Given the description of an element on the screen output the (x, y) to click on. 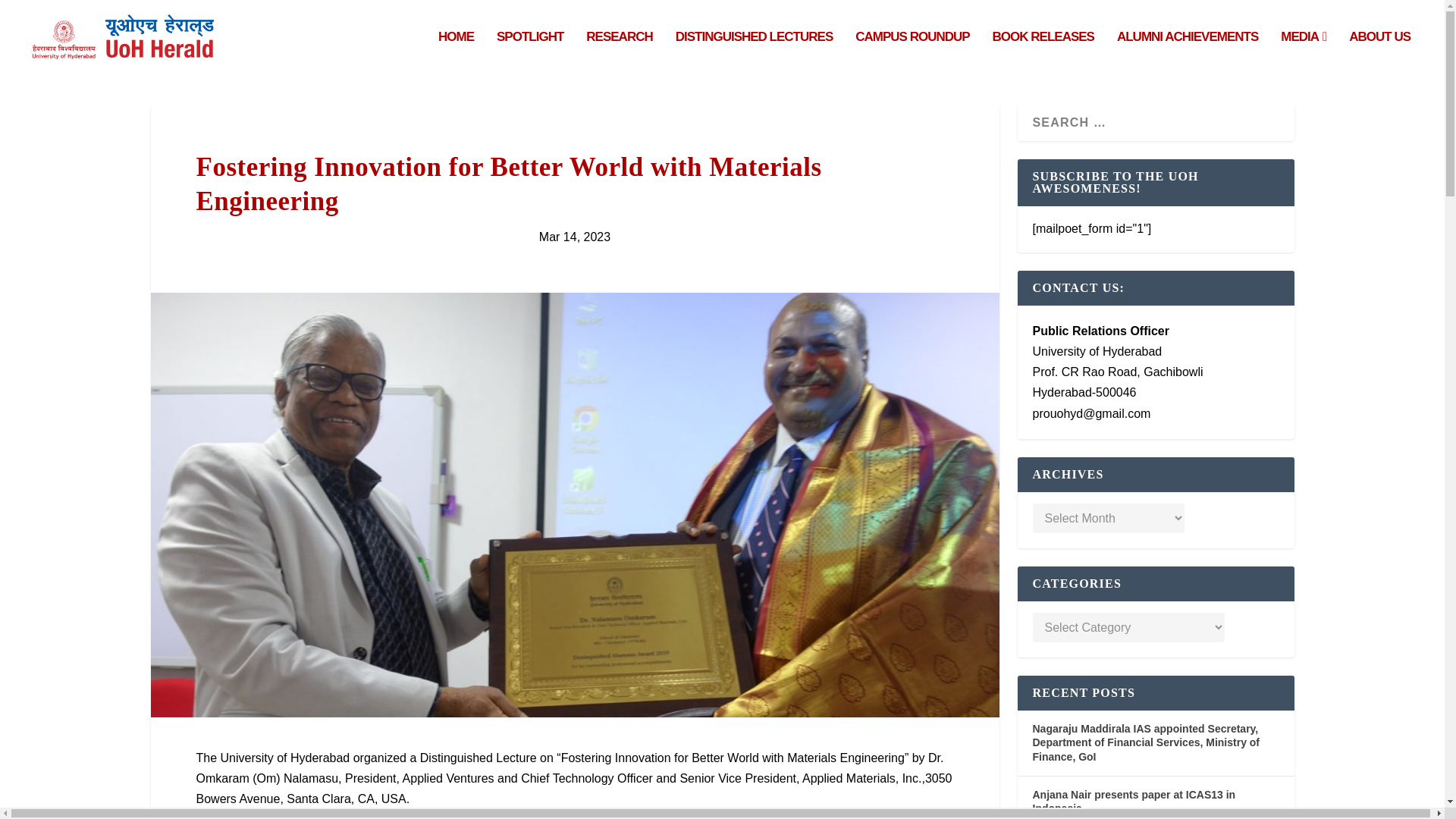
SPOTLIGHT (529, 52)
RESEARCH (619, 52)
BOOK RELEASES (1043, 52)
MEDIA (1303, 52)
DISTINGUISHED LECTURES (753, 52)
ABOUT US (1379, 52)
Anjana Nair presents paper at ICAS13 in Indonesia (1134, 801)
ALUMNI ACHIEVEMENTS (1186, 52)
Search (34, 14)
